Given the description of an element on the screen output the (x, y) to click on. 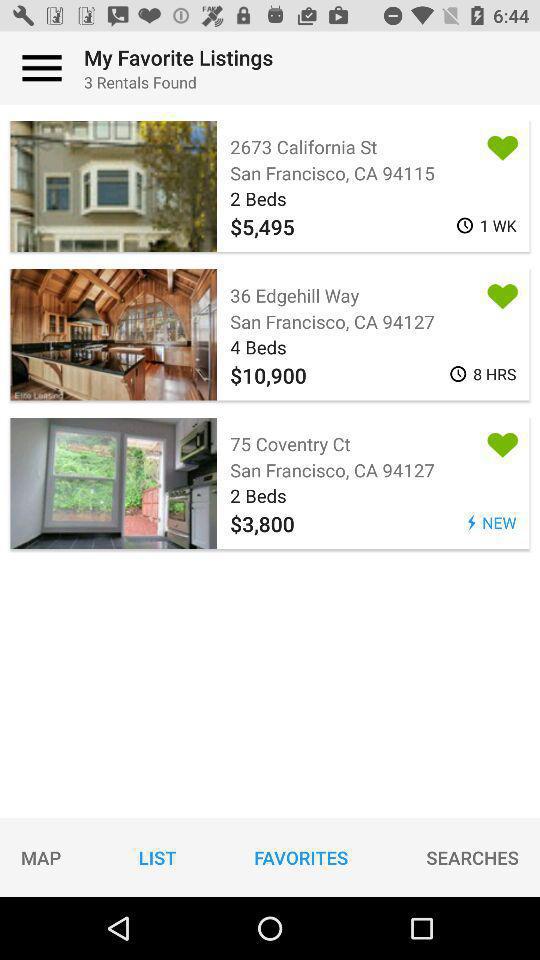
tap icon to the right of the list icon (301, 857)
